Given the description of an element on the screen output the (x, y) to click on. 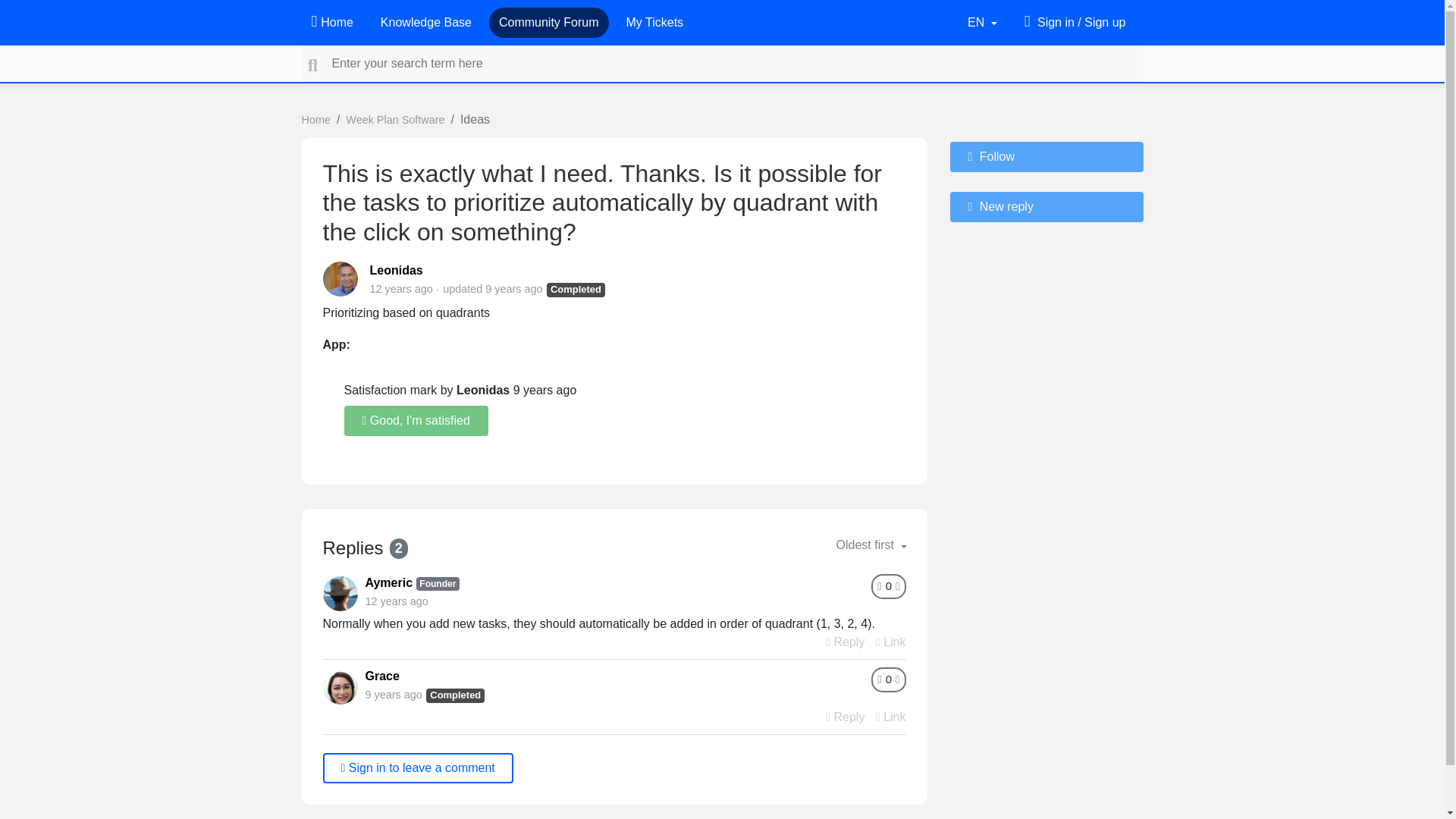
New reply (1045, 206)
Aymeric (389, 582)
Knowledge Base (425, 22)
Sept. 17, 2012 3:11 a.m. (396, 601)
Reply (844, 716)
June 5, 2015 1:06 p.m. (393, 694)
Grace (381, 675)
Follow (1045, 156)
Home (315, 119)
Home (331, 22)
Community Forum (549, 22)
Reply (844, 641)
Leonidas (396, 269)
My Tickets (655, 22)
Week Plan Software (395, 119)
